Given the description of an element on the screen output the (x, y) to click on. 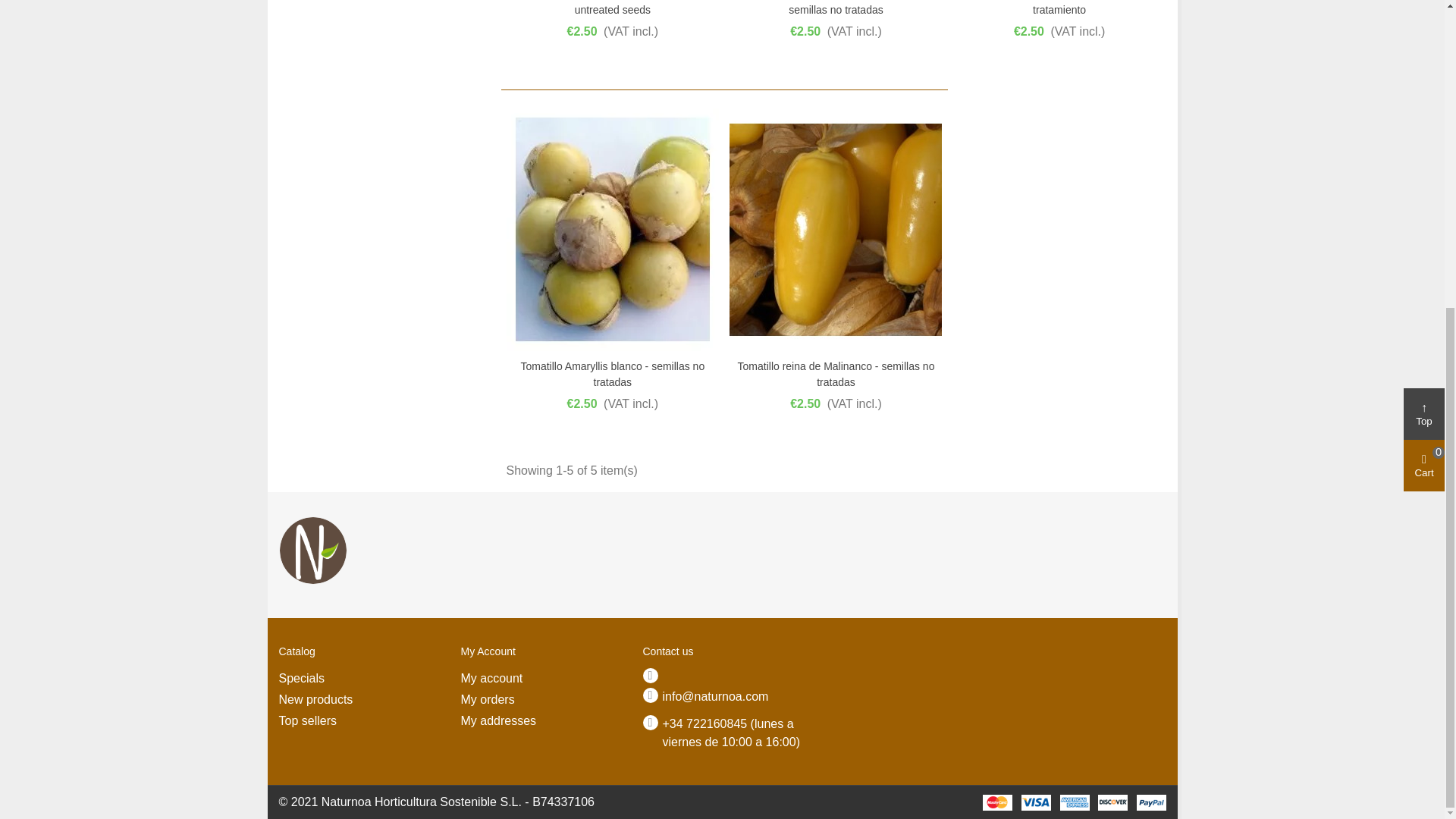
Physalis Ixocarpa Green Tomatillo - untreated seeds (612, 9)
